Given the description of an element on the screen output the (x, y) to click on. 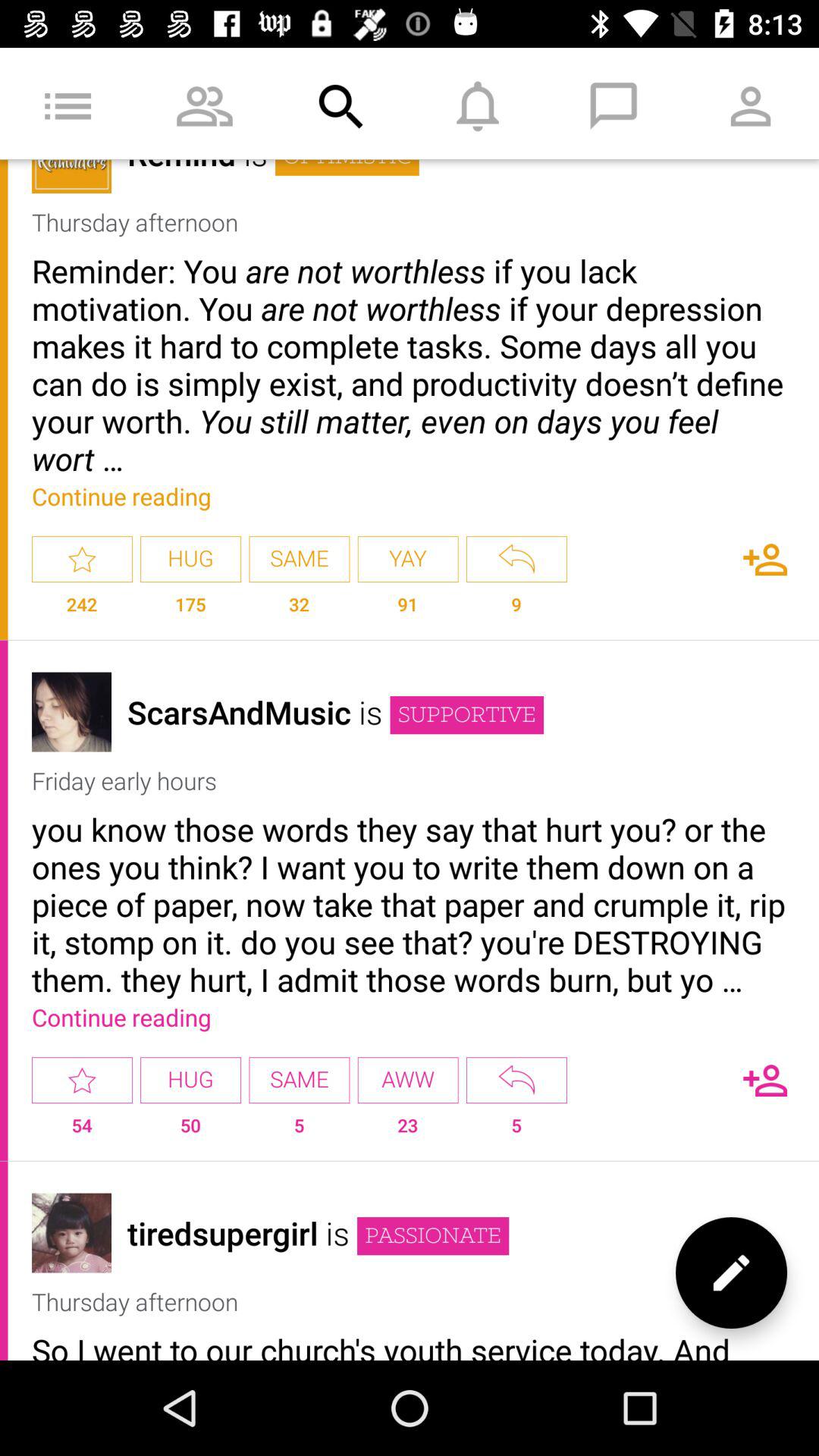
add contact (765, 559)
